Given the description of an element on the screen output the (x, y) to click on. 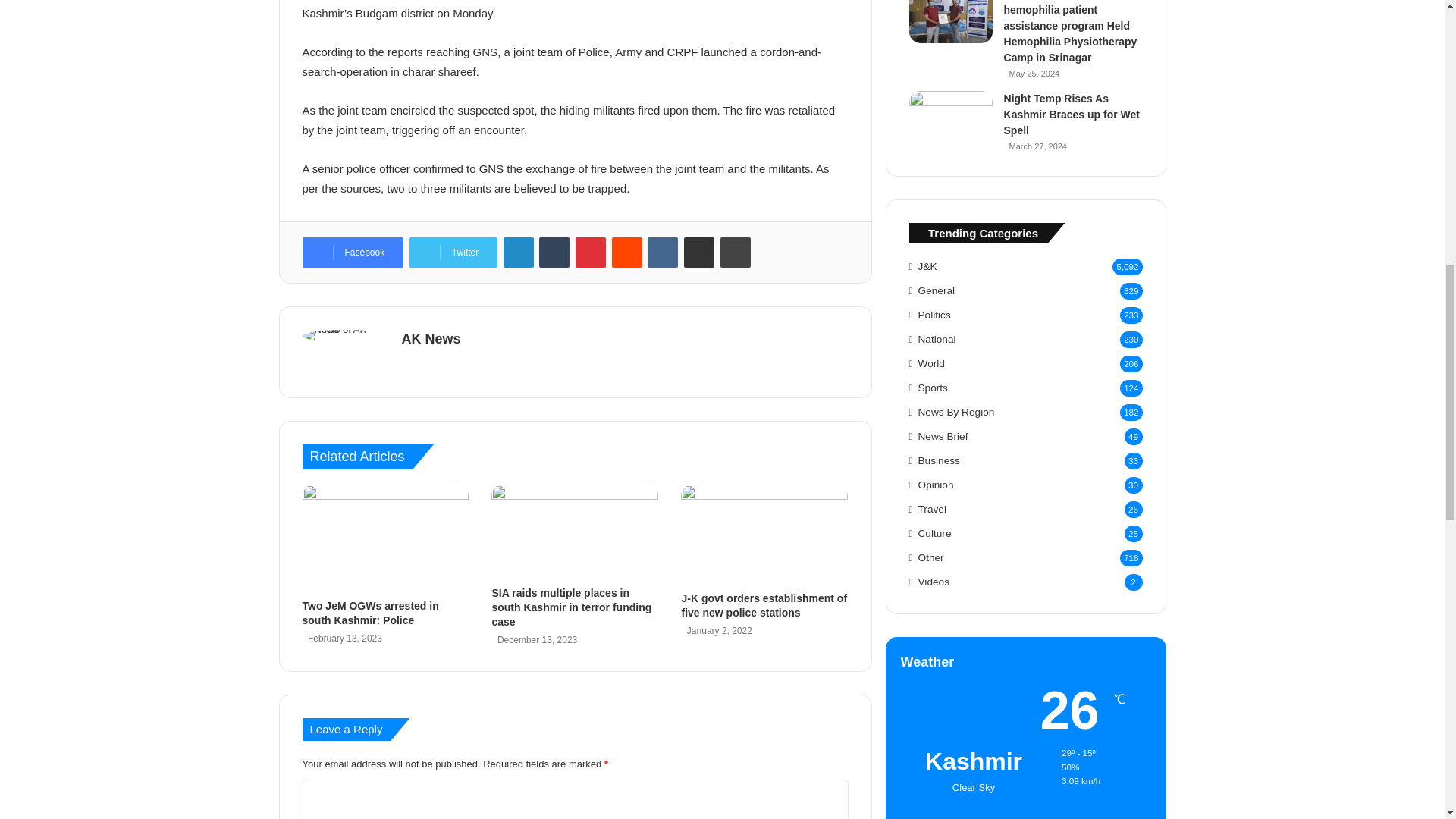
LinkedIn (518, 252)
Facebook (352, 252)
Share via Email (699, 252)
Reddit (626, 252)
Tumblr (553, 252)
Twitter (453, 252)
Print (735, 252)
VKontakte (662, 252)
Pinterest (590, 252)
